Given the description of an element on the screen output the (x, y) to click on. 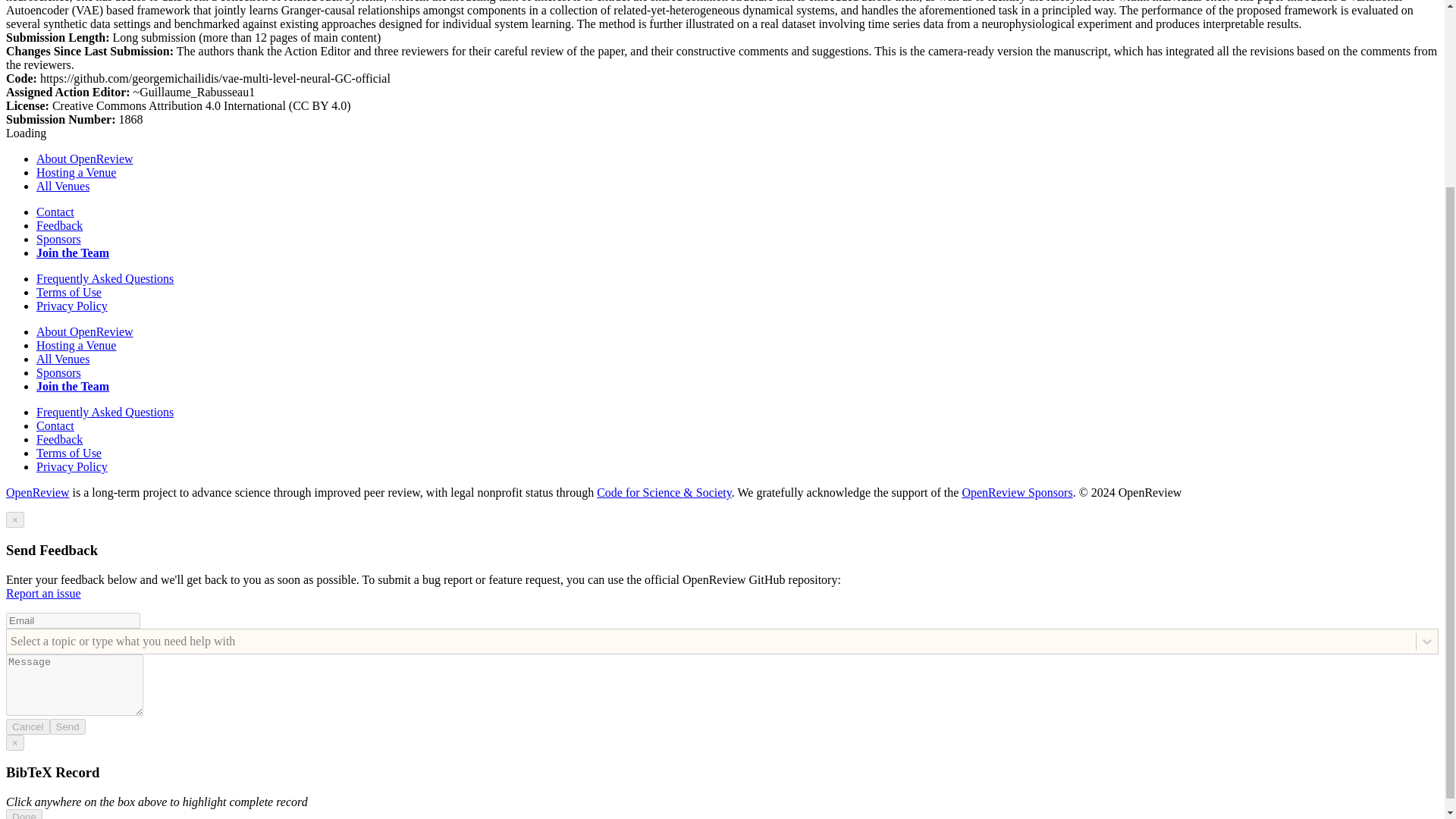
Frequently Asked Questions (104, 278)
Privacy Policy (71, 305)
All Venues (62, 185)
Join the Team (72, 386)
Terms of Use (68, 291)
About OpenReview (84, 331)
Feedback (59, 439)
Sponsors (58, 372)
Feedback (59, 225)
Report an issue (43, 593)
Send (67, 726)
OpenReview (37, 492)
Hosting a Venue (76, 172)
Privacy Policy (71, 466)
Join the Team (72, 252)
